Given the description of an element on the screen output the (x, y) to click on. 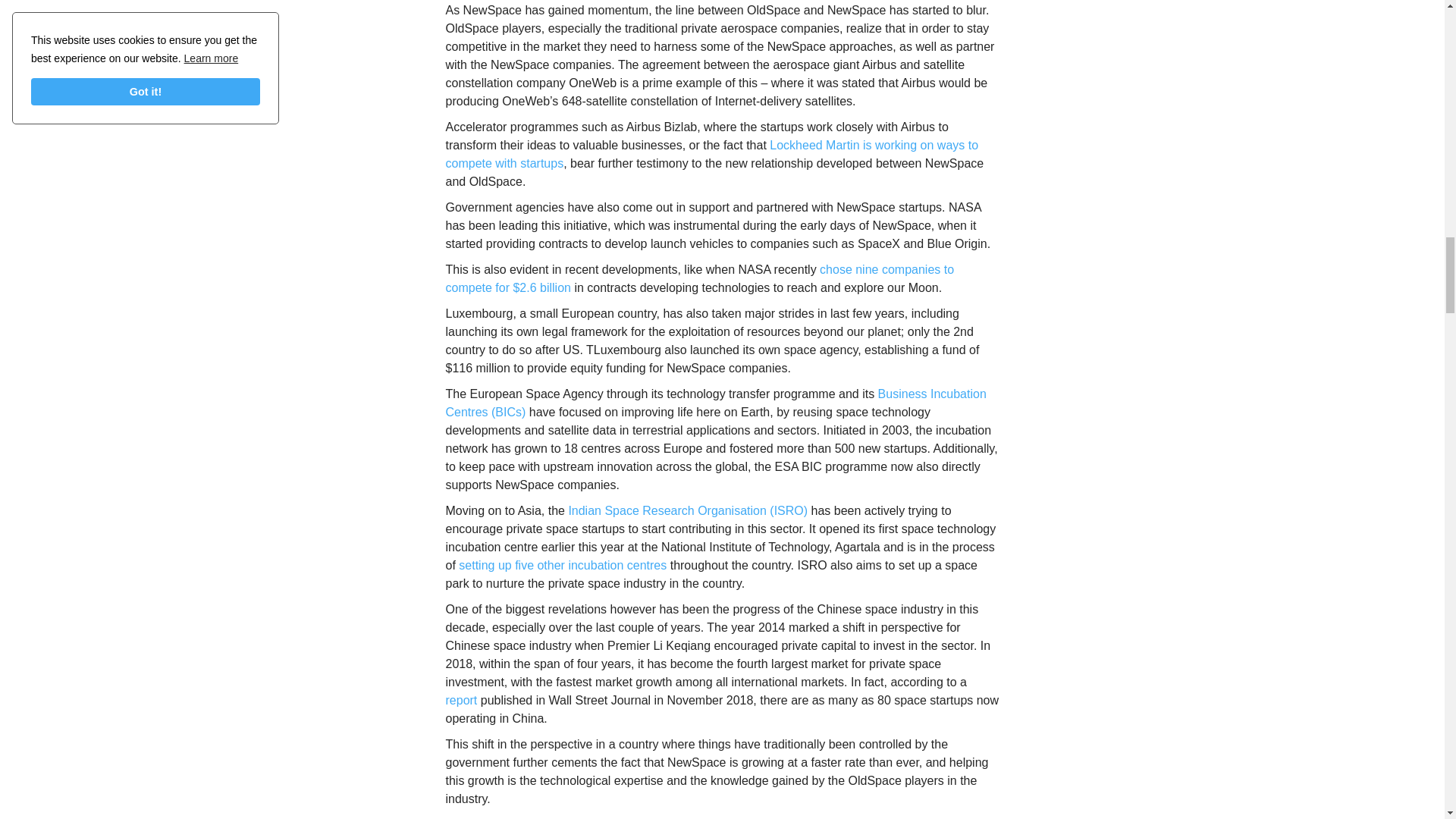
setting up five other incubation centres (562, 564)
Lockheed Martin is working on ways to compete with startups (711, 153)
Indian Space Research Organization (687, 510)
report (461, 699)
European Space Agency Business Incubation Centres (716, 402)
Lockheed Martin is working on ways to compete with startups (711, 153)
